Given the description of an element on the screen output the (x, y) to click on. 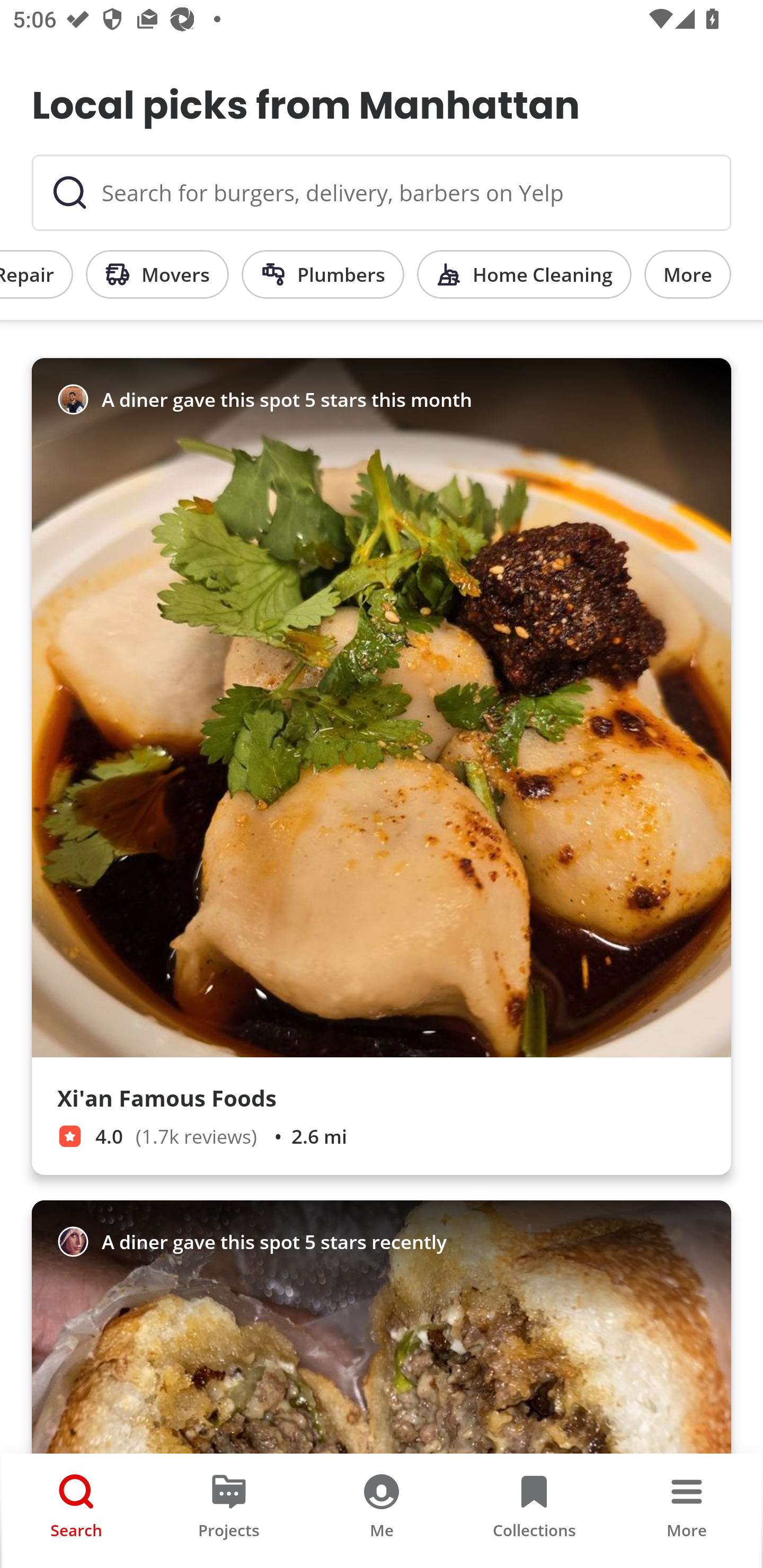
Home Cleaning (524, 274)
